Given the description of an element on the screen output the (x, y) to click on. 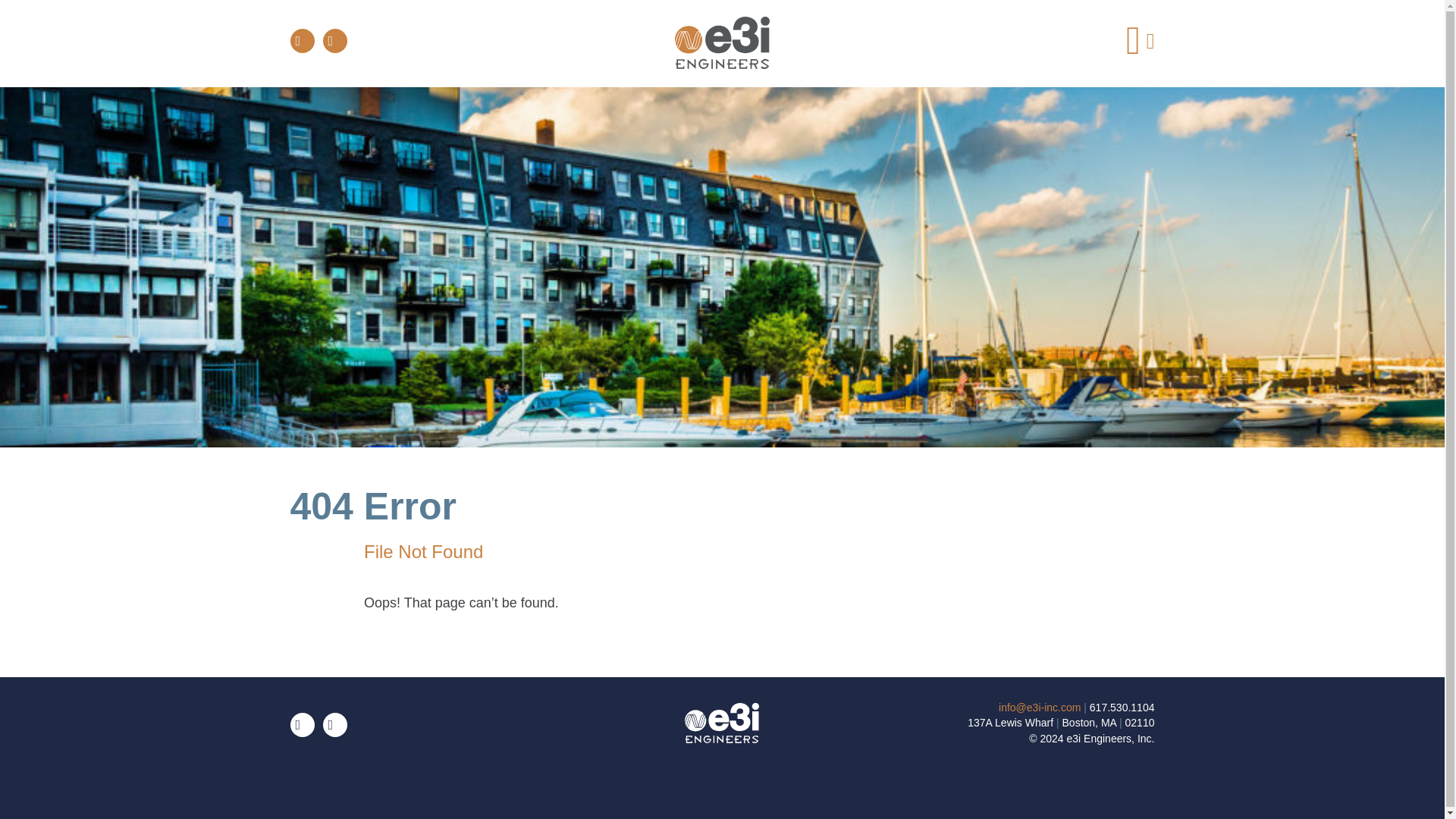
Instagram (335, 40)
LinkedIn (301, 40)
LinkedIn (301, 724)
Instagram (335, 724)
